Given the description of an element on the screen output the (x, y) to click on. 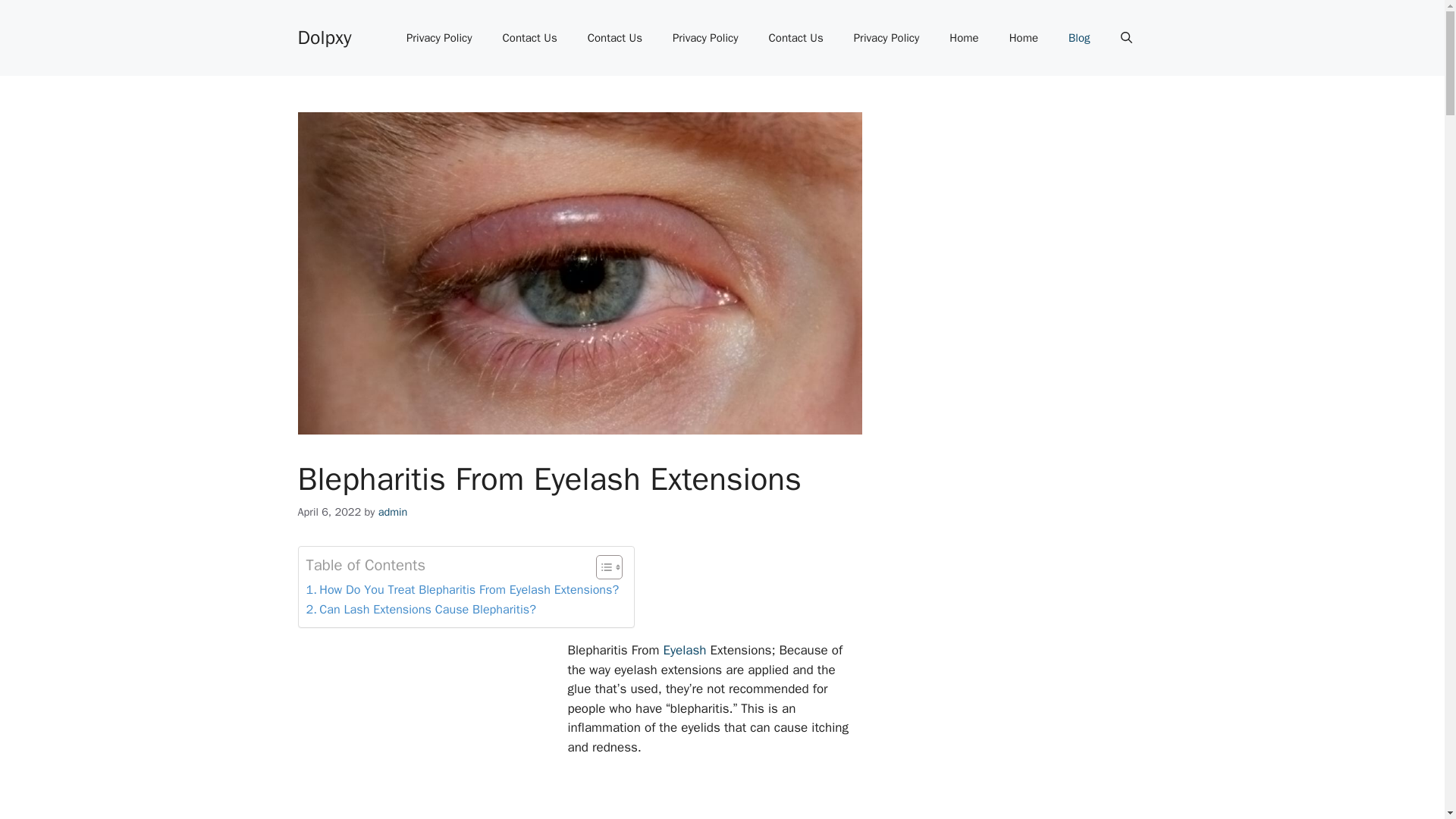
Contact Us (615, 37)
Privacy Policy (439, 37)
Contact Us (796, 37)
Can Lash Extensions Cause Blepharitis? (420, 609)
Home (1023, 37)
Home (963, 37)
Blog (1078, 37)
Can Lash Extensions Cause Blepharitis? (420, 609)
Contact Us (529, 37)
Privacy Policy (706, 37)
How Do You Treat Blepharitis From Eyelash Extensions? (462, 589)
admin (392, 511)
Eyelash (686, 650)
How Do You Treat Blepharitis From Eyelash Extensions? (462, 589)
Privacy Policy (886, 37)
